Given the description of an element on the screen output the (x, y) to click on. 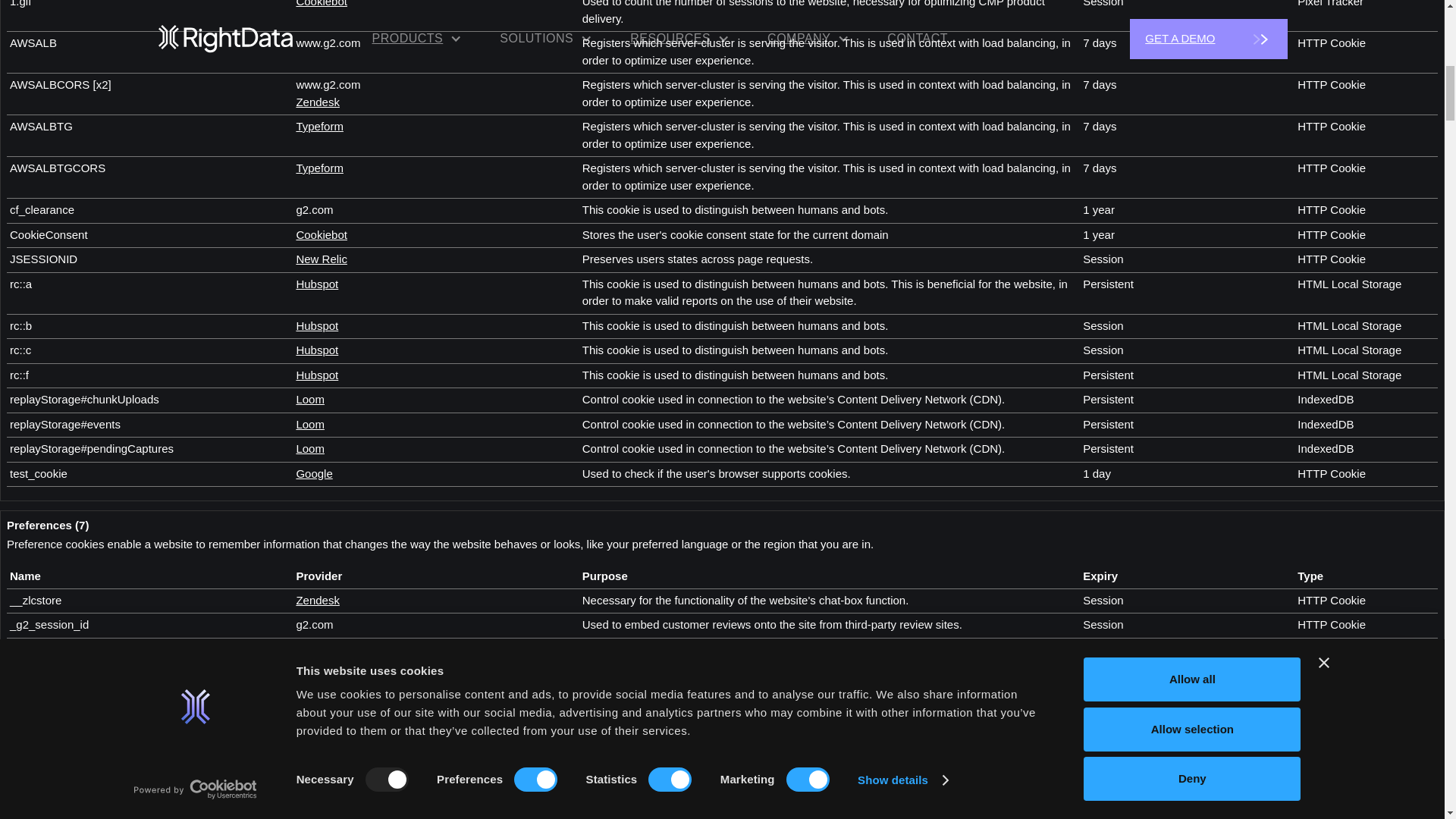
Typeform (319, 722)
Hubspot (316, 374)
Typeform (319, 125)
Cookiebot's privacy policy (321, 3)
Zendesk's privacy policy (317, 101)
New Relic's privacy policy (321, 258)
Zendesk (317, 599)
Typeform's privacy policy (319, 125)
Google (313, 472)
Loom (309, 422)
